Given the description of an element on the screen output the (x, y) to click on. 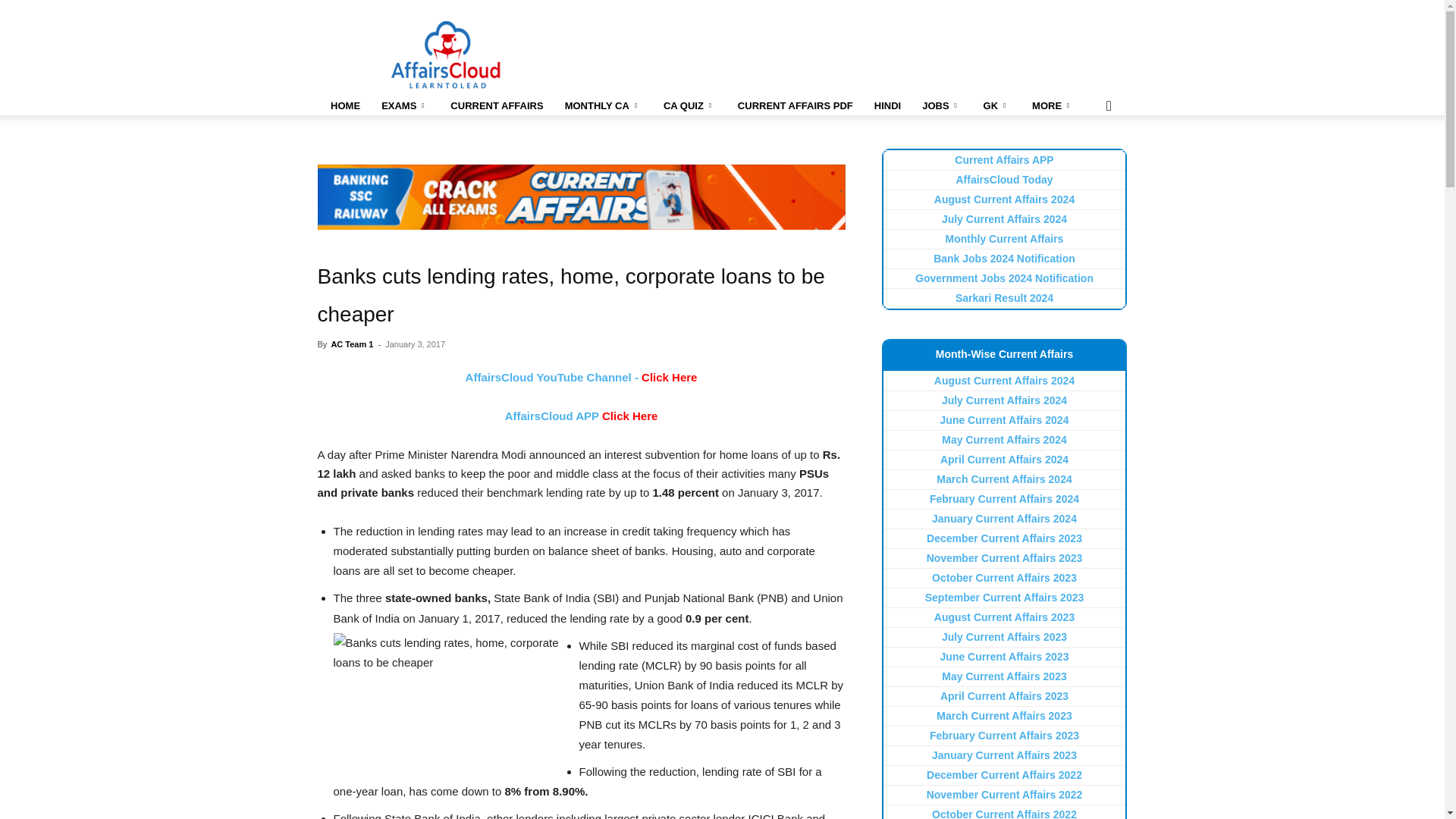
Home (344, 105)
Current Affairs Quiz (689, 105)
Current Affairs PDF (794, 105)
AffairsCloud (446, 55)
Current Affairs (496, 105)
Current Affairs Hindi (887, 105)
